Given the description of an element on the screen output the (x, y) to click on. 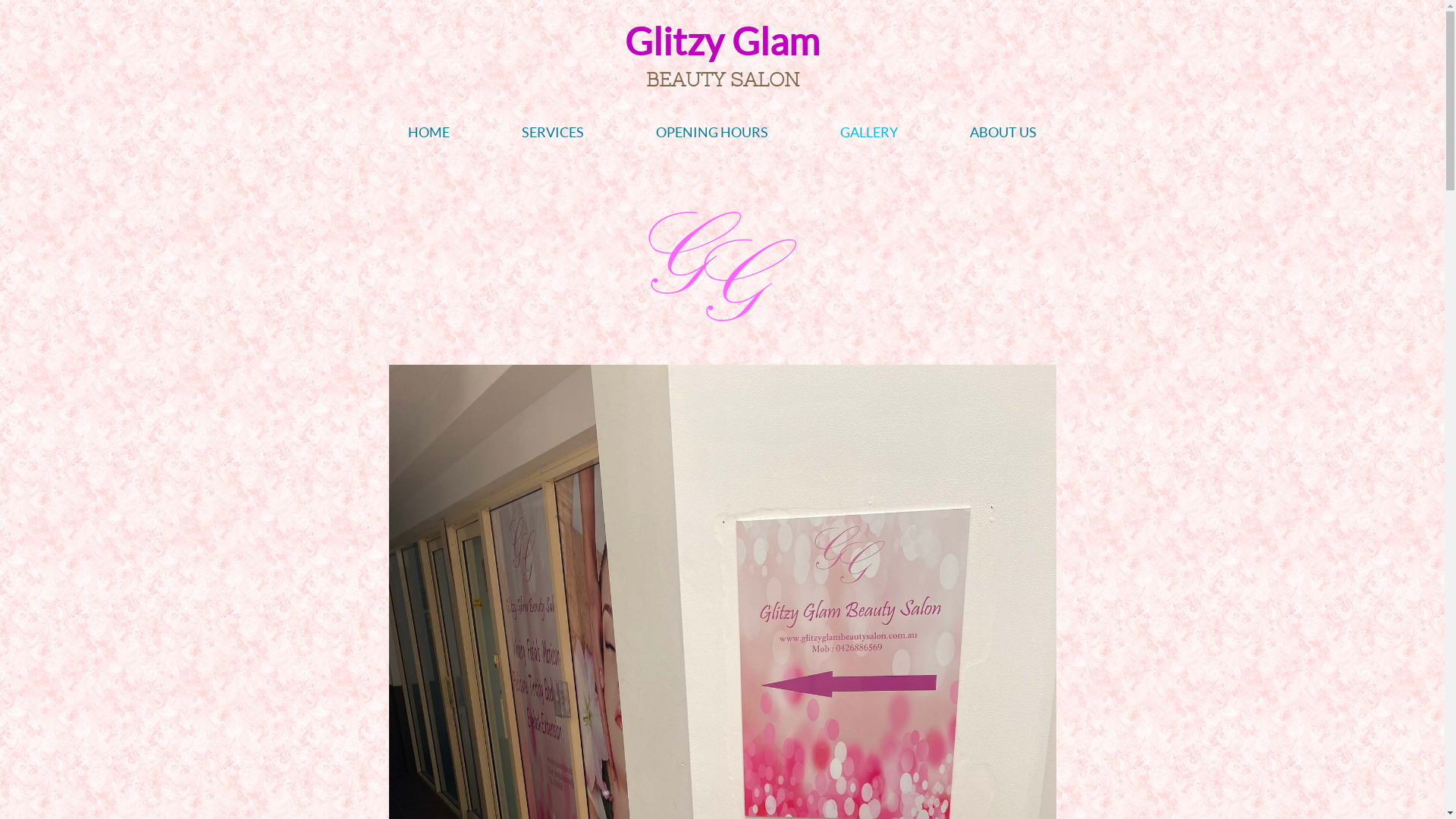
Glitzy Glam
BEAUTY SALON Element type: text (721, 59)
GALLERY Element type: text (868, 132)
OPENING HOURS Element type: text (712, 132)
SERVICES Element type: text (552, 132)
ABOUT US Element type: text (1003, 132)
HOME Element type: text (428, 132)
